Given the description of an element on the screen output the (x, y) to click on. 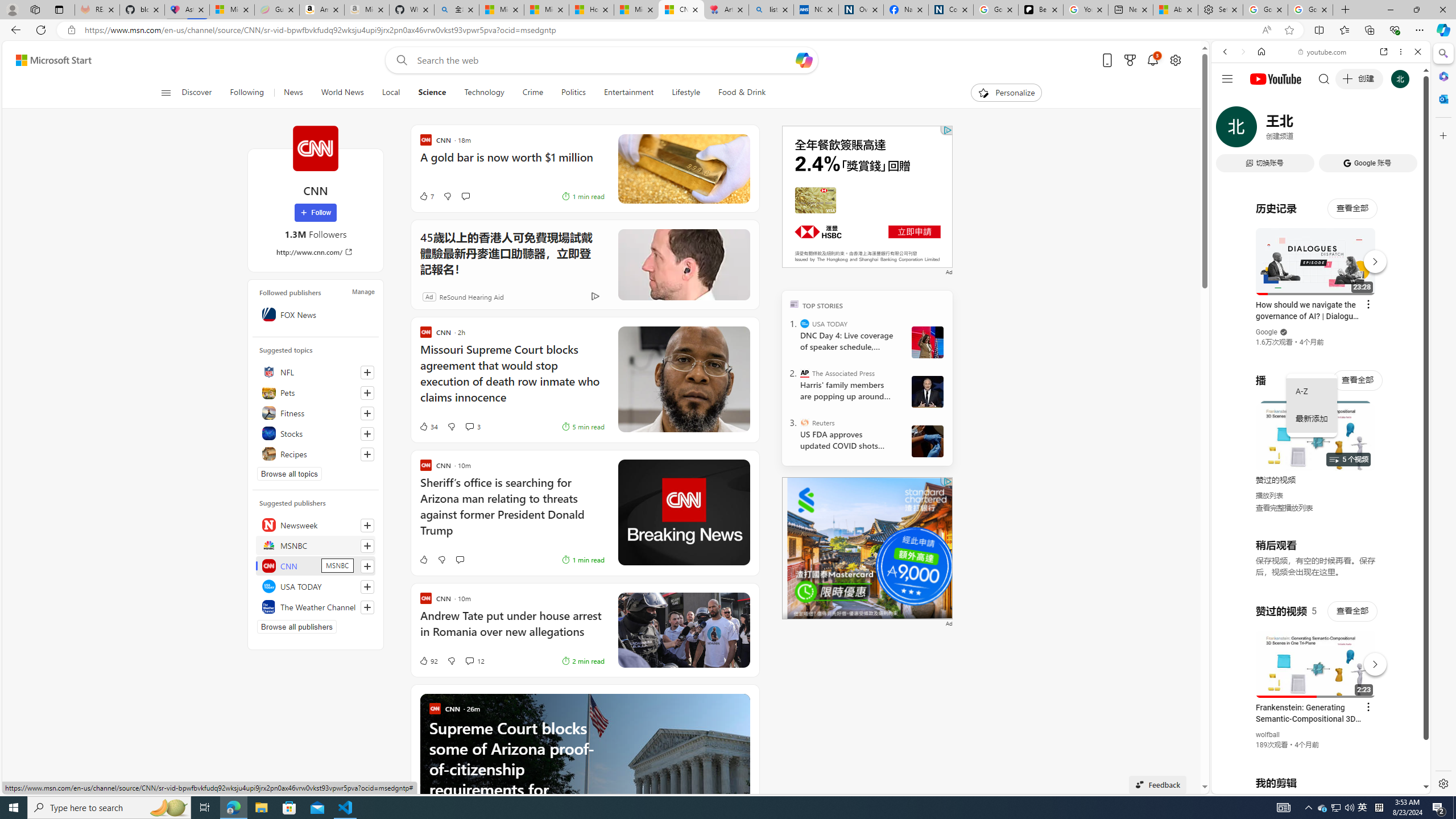
wolfball (1268, 734)
How I Got Rid of Microsoft Edge's Unnecessary Features (591, 9)
Class: button-glyph (165, 92)
